Given the description of an element on the screen output the (x, y) to click on. 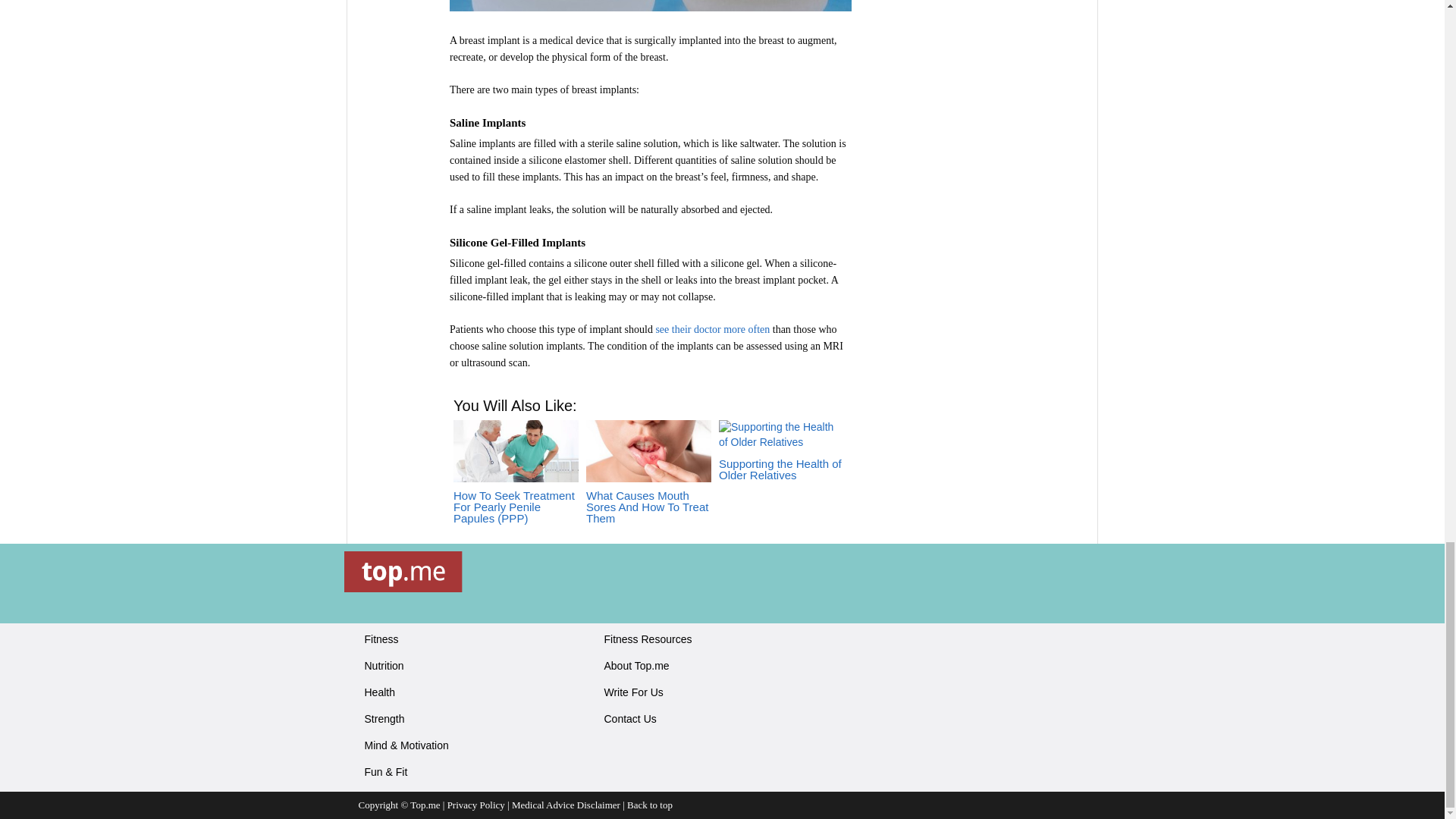
Strength (384, 718)
Health (379, 692)
What Causes Mouth Sores And How To Treat Them (648, 485)
see their doctor more often (711, 328)
Fitness Resources (647, 639)
Nutrition (383, 665)
Google Plus (900, 644)
